Given the description of an element on the screen output the (x, y) to click on. 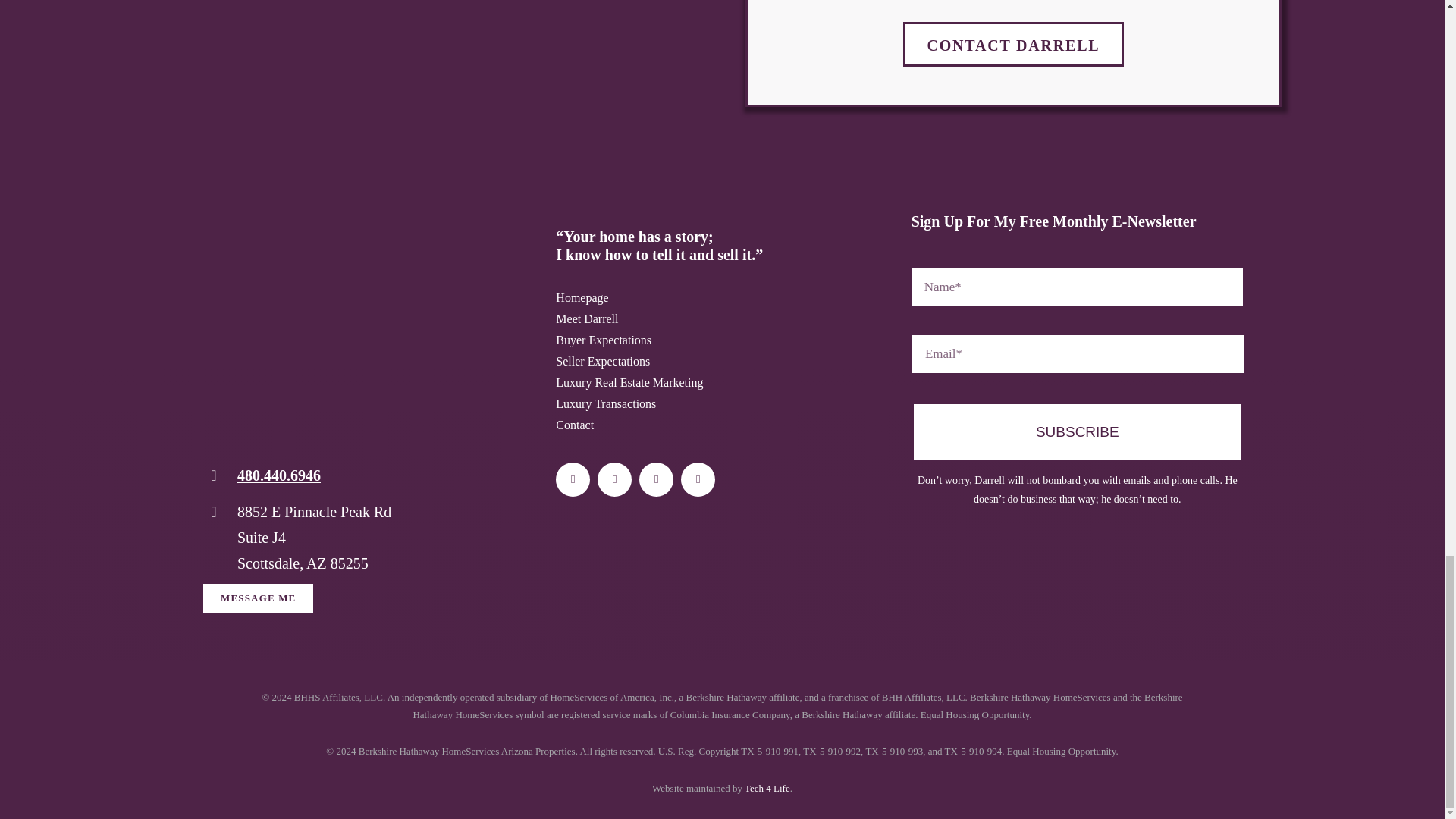
480.440.6946 (278, 475)
Luxury Real Estate Marketing (722, 382)
Meet Darrell (722, 319)
Facebook (572, 479)
Instagram (613, 479)
CONTACT DARRELL (1013, 44)
SUBSCRIBE (1077, 372)
Homepage (722, 297)
LinkedIn (697, 479)
MESSAGE ME (257, 598)
